Given the description of an element on the screen output the (x, y) to click on. 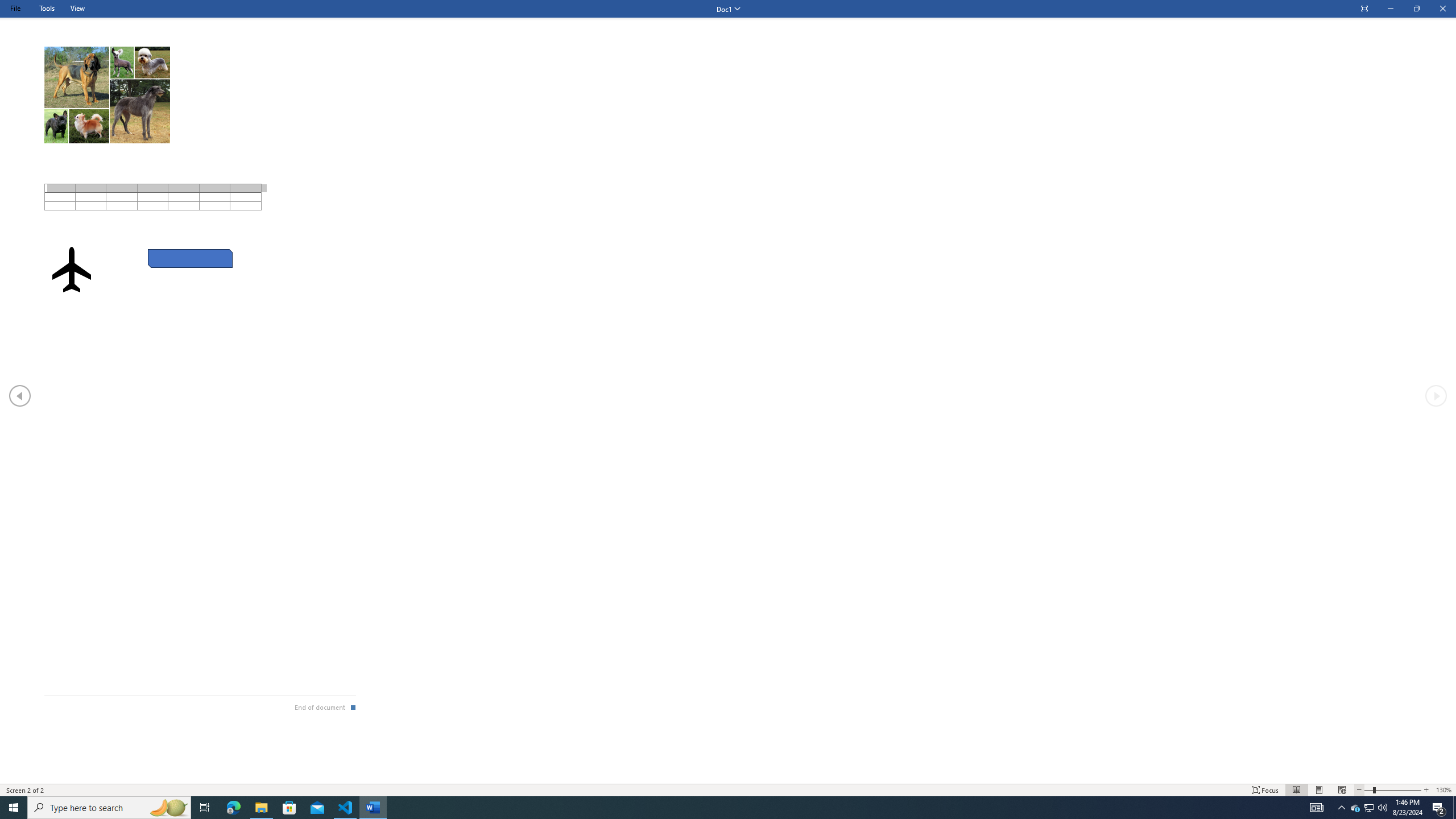
Morphological variation in six dogs (106, 94)
Tools (46, 8)
Rectangle: Diagonal Corners Snipped 2 (190, 257)
Auto-hide Reading Toolbar (1364, 9)
Increase Text Size (1426, 790)
